Given the description of an element on the screen output the (x, y) to click on. 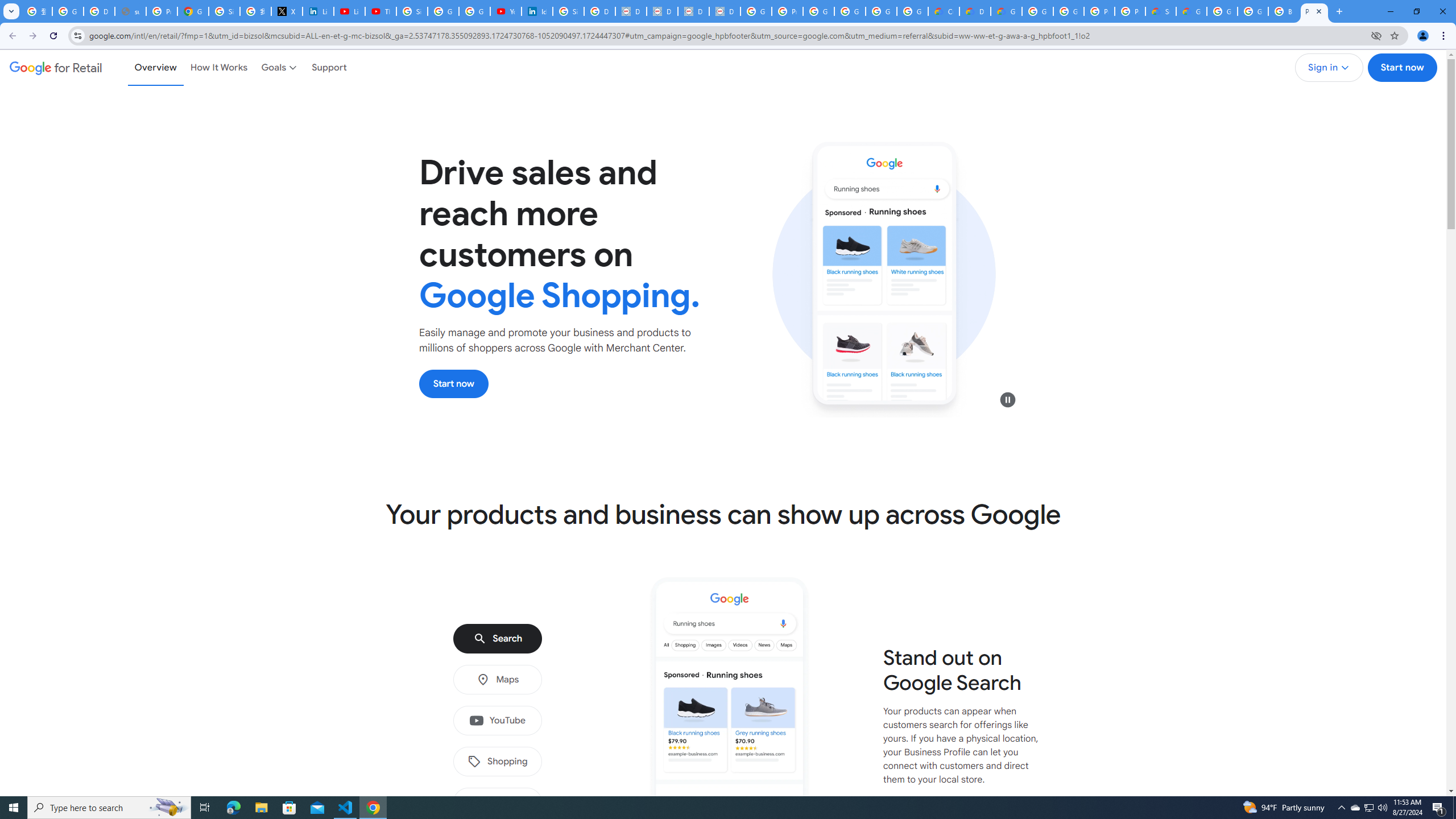
YouTube (496, 720)
Data Privacy Framework (662, 11)
Google Workspace - Specific Terms (912, 11)
Pause animation (1007, 399)
Identity verification via Persona | LinkedIn Help (536, 11)
How It Works (218, 67)
Gemini for Business and Developers | Google Cloud (1005, 11)
